Given the description of an element on the screen output the (x, y) to click on. 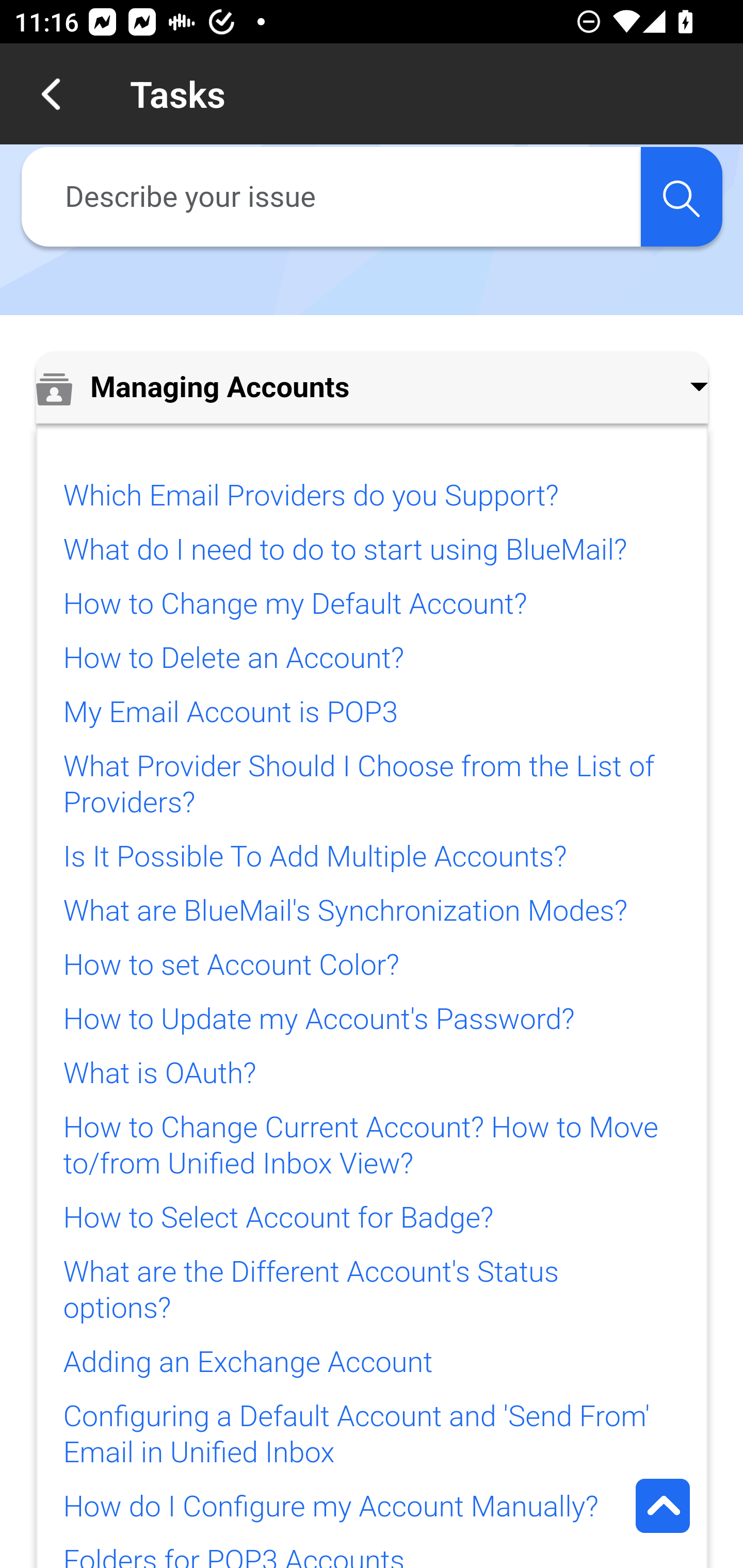
Navigate up (50, 93)
search (680, 196)
Which Email Providers do you Support? (310, 496)
What do I need to do to start using BlueMail? (344, 549)
How to Change my Default Account? (294, 604)
How to Delete an Account? (233, 659)
My Email Account is POP3 (229, 712)
Is It Possible To Add Multiple Accounts? (313, 856)
What are BlueMail's Synchronization Modes? (344, 911)
How to set Account Color? (231, 965)
How to Update my Account's Password? (318, 1019)
What is OAuth? (158, 1073)
How to Select Account for Badge? (277, 1217)
What are the Different Account's Status options? (310, 1290)
Adding an Exchange Account (247, 1363)
How do I Configure my Account Manually? (330, 1507)
Folders for POP3 Accounts (233, 1555)
